Given the description of an element on the screen output the (x, y) to click on. 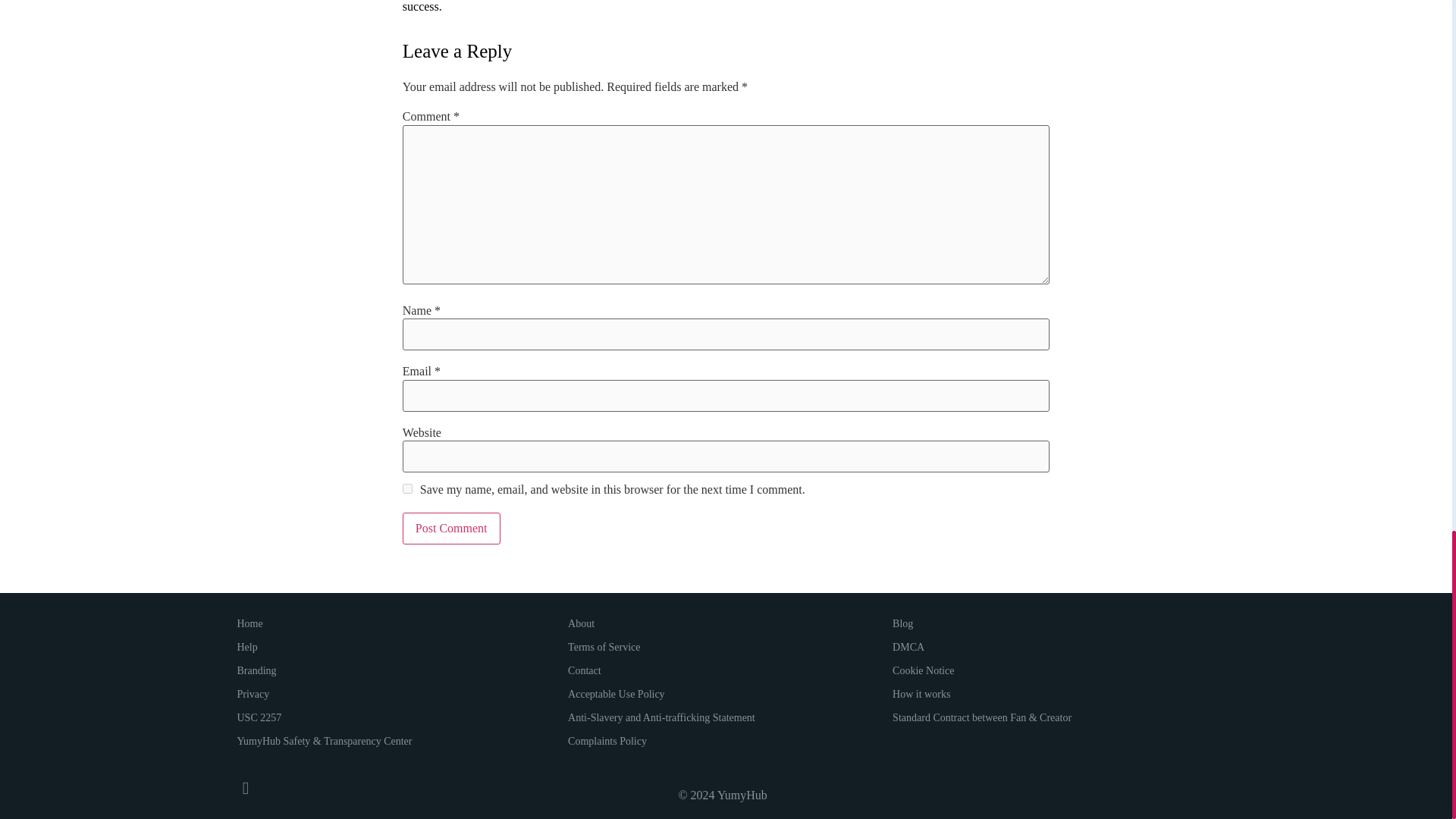
Blog (902, 623)
About (580, 623)
Contact (584, 670)
Branding (255, 670)
Help (246, 647)
DMCA (908, 647)
yes (407, 488)
Anti-Slavery and Anti-trafficking Statement (661, 717)
USC 2257 (258, 717)
Cookie Notice (922, 670)
